Given the description of an element on the screen output the (x, y) to click on. 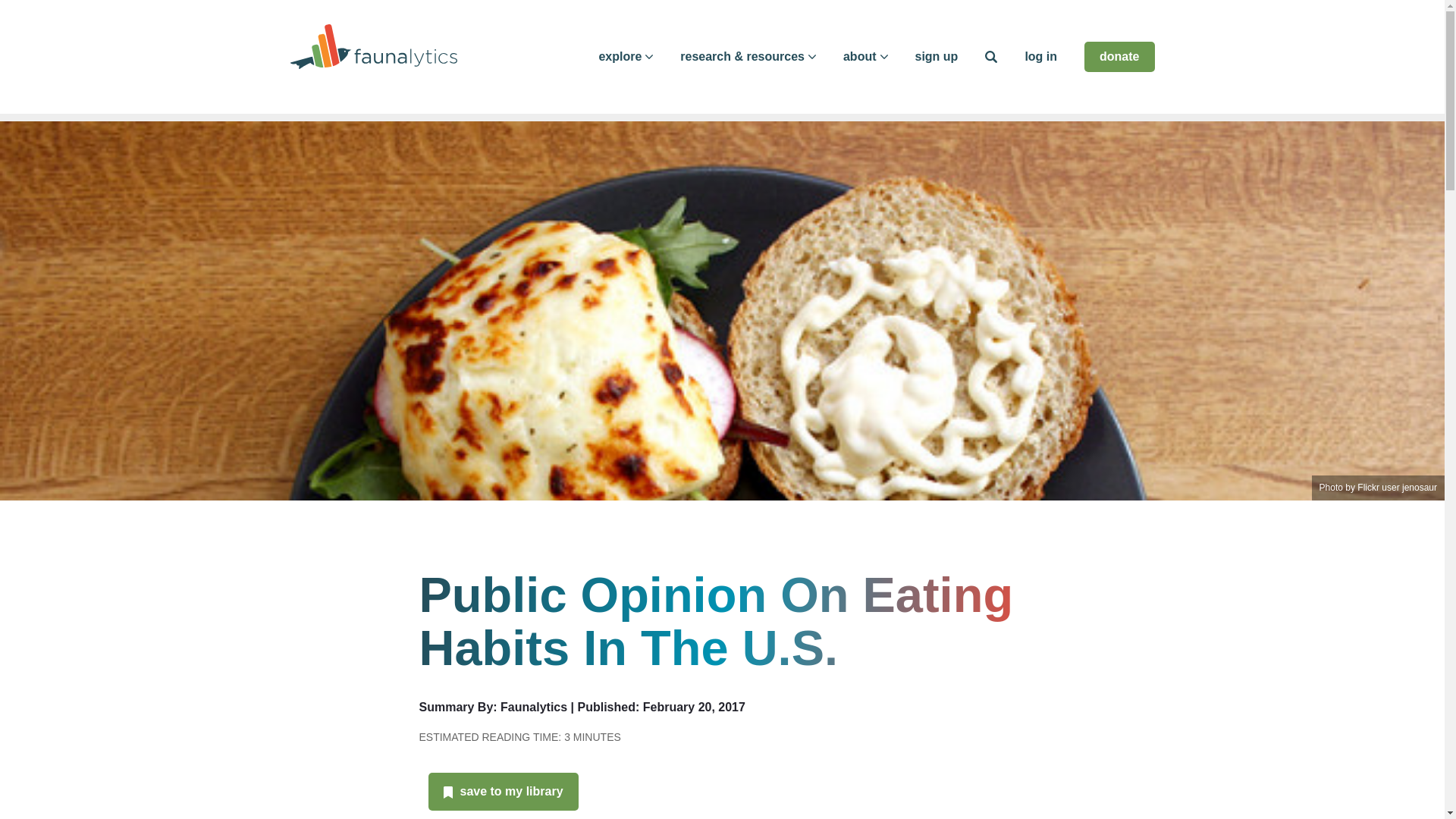
sign up (936, 56)
Save to My Library (511, 790)
Posts by Faunalytics (533, 707)
donate (1119, 56)
log in (1041, 56)
